Given the description of an element on the screen output the (x, y) to click on. 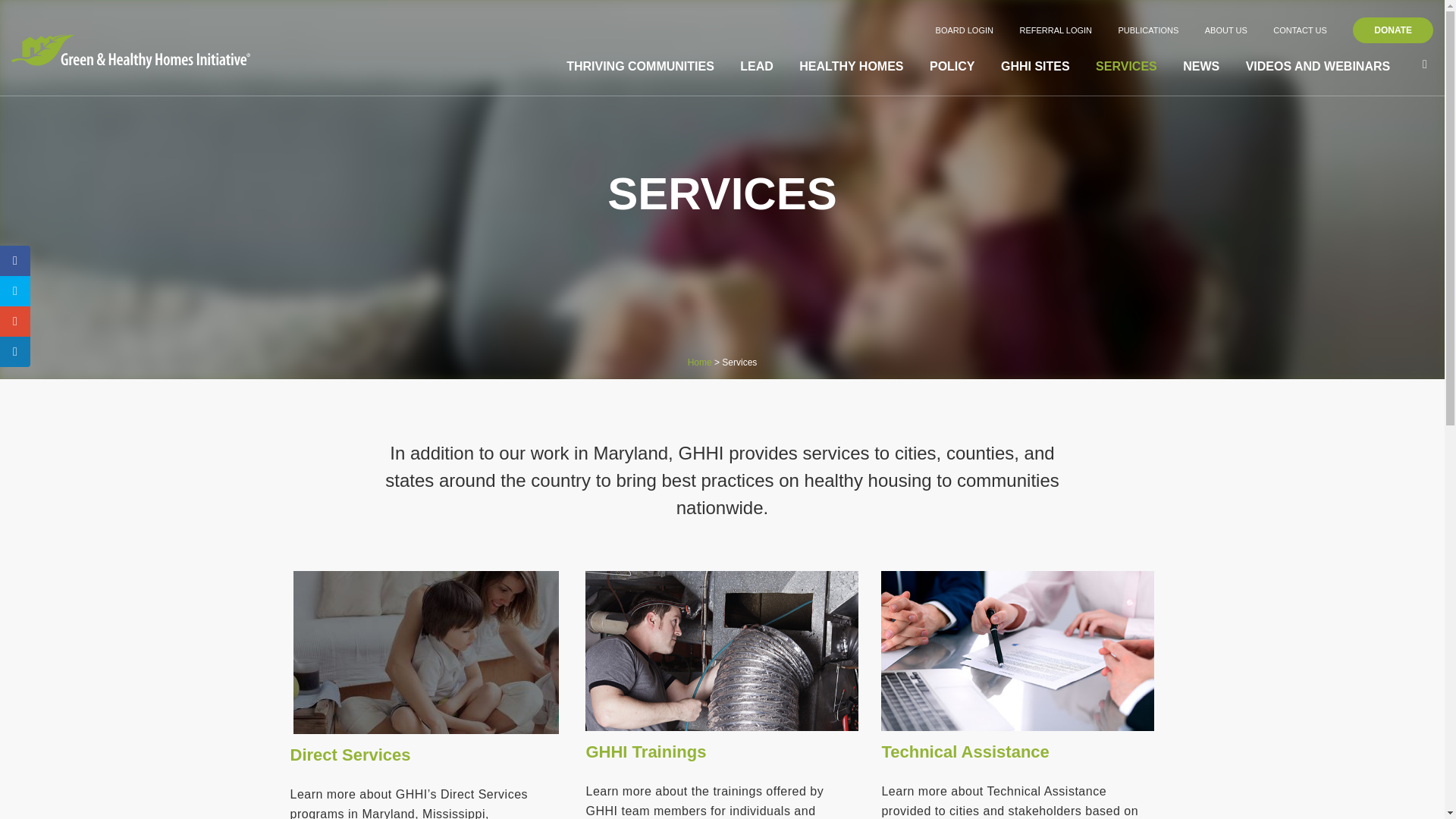
HEALTHY HOMES (850, 66)
PUBLICATIONS (1147, 30)
SERVICES (1126, 66)
BOARD LOGIN (964, 30)
DONATE (1392, 30)
THRIVING COMMUNITIES (640, 66)
CONTACT US (1299, 30)
hdr-gethelp (426, 651)
ABOUT US (1226, 30)
REFERRAL LOGIN (1055, 30)
